Given the description of an element on the screen output the (x, y) to click on. 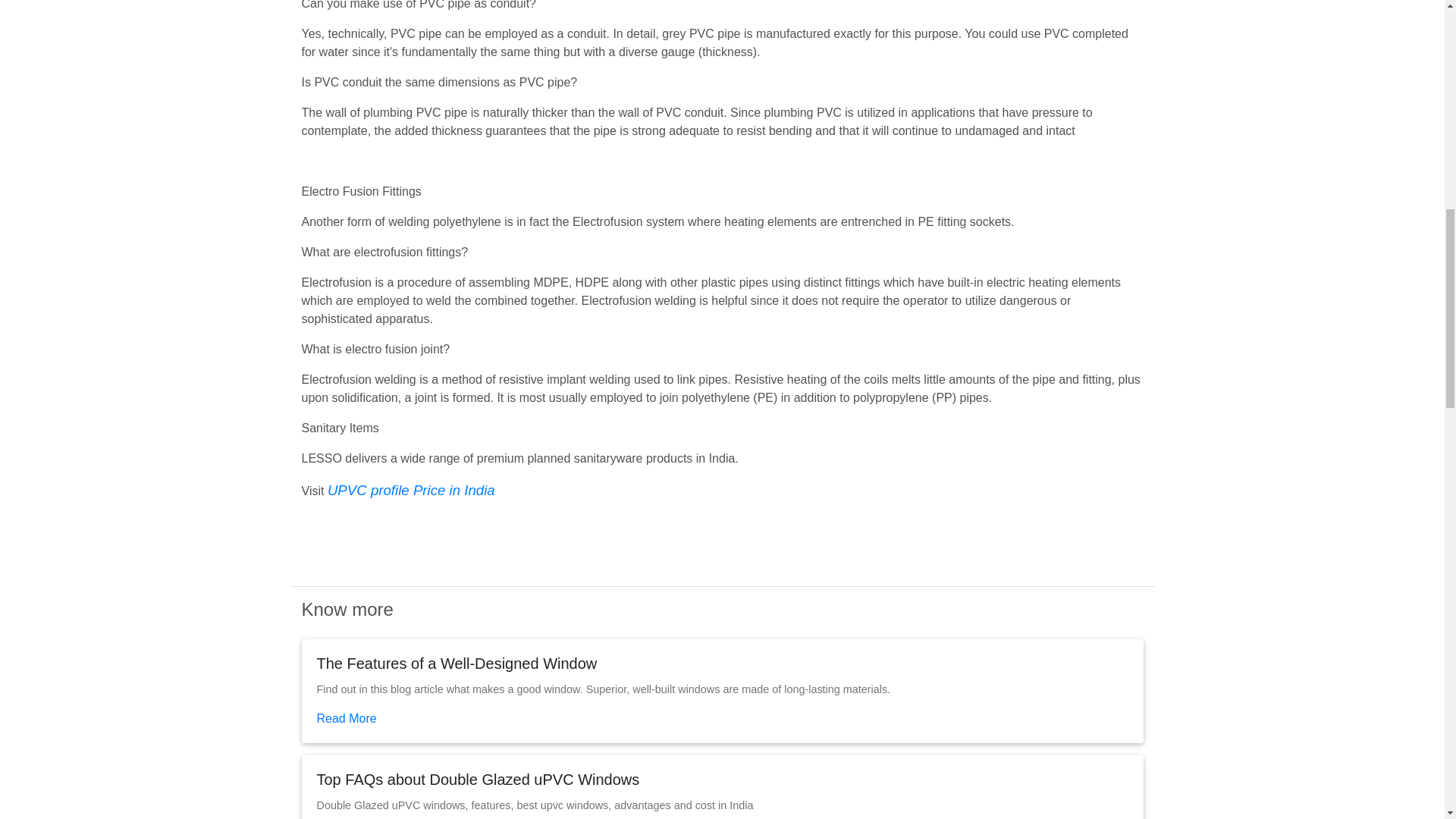
upvc door and window cost in India (411, 490)
UPVC profile Price in India (411, 490)
